Given the description of an element on the screen output the (x, y) to click on. 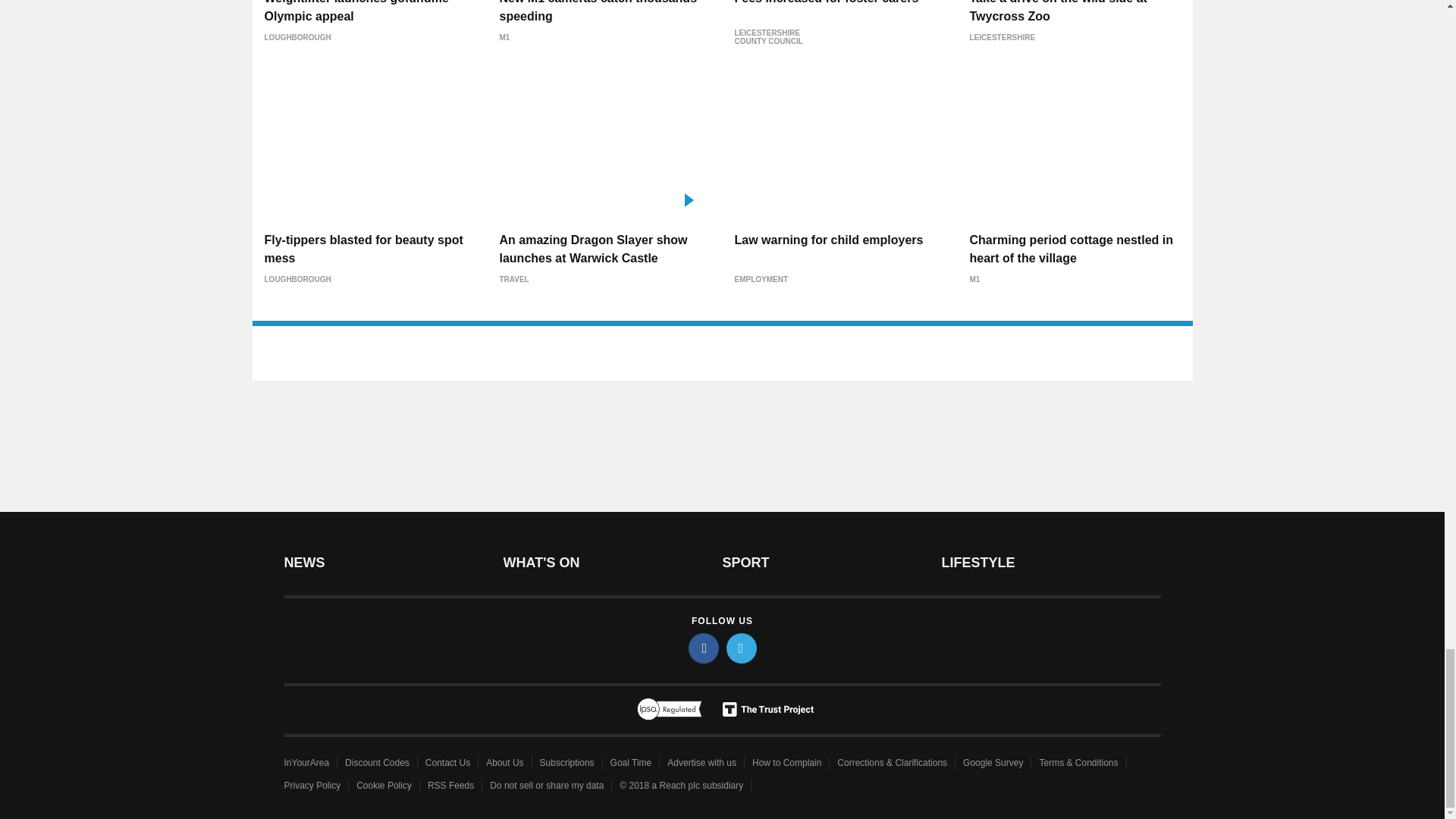
facebook (703, 648)
twitter (741, 648)
